Given the description of an element on the screen output the (x, y) to click on. 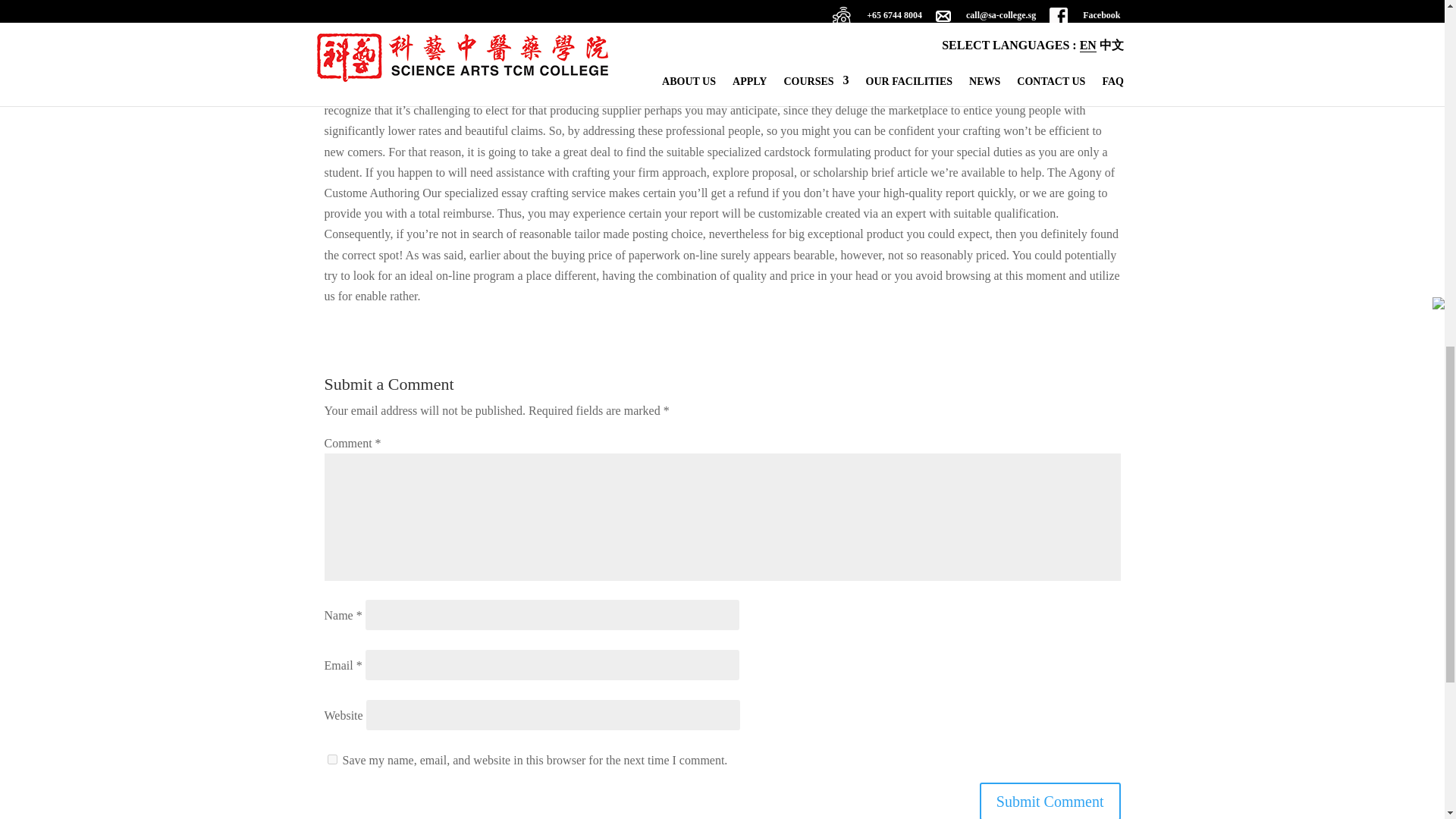
Submit Comment (1050, 800)
Submit Comment (1050, 800)
yes (332, 759)
